Given the description of an element on the screen output the (x, y) to click on. 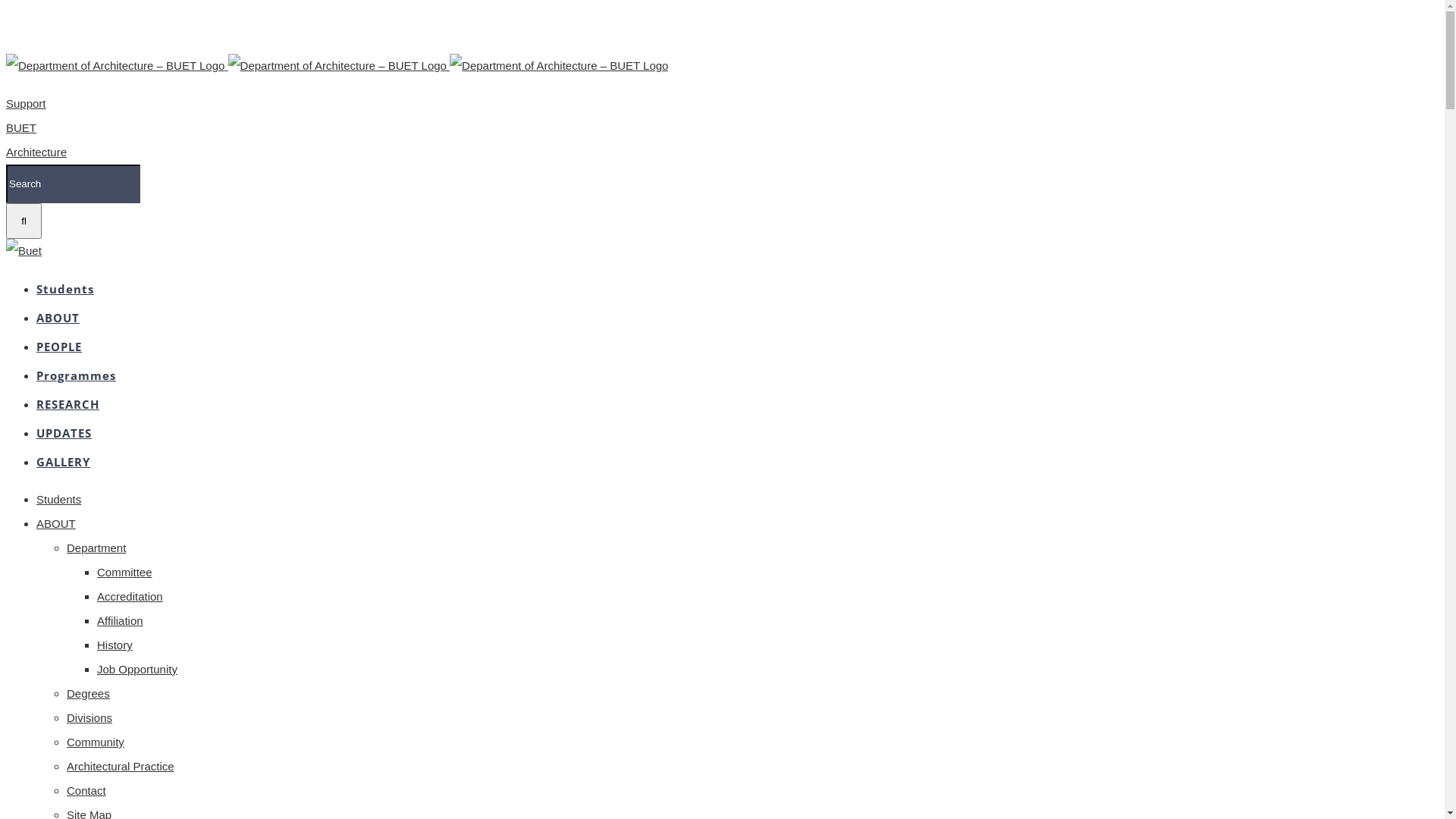
Support
BUET
Architecture Element type: text (36, 127)
Buet Element type: hover (23, 250)
Job Opportunity Element type: text (137, 668)
ABOUT Element type: text (55, 523)
GALLERY Element type: text (63, 460)
Students Element type: text (65, 287)
Affiliation Element type: text (120, 620)
ABOUT Element type: text (57, 316)
Accreditation Element type: text (130, 595)
PEOPLE Element type: text (58, 345)
Programmes Element type: text (76, 374)
Students Element type: text (58, 498)
Department Element type: text (95, 547)
Community Element type: text (95, 741)
UPDATES Element type: text (63, 431)
History Element type: text (114, 644)
Architectural Practice Element type: text (120, 765)
Divisions Element type: text (89, 717)
Contact Element type: text (86, 790)
RESEARCH Element type: text (67, 403)
Committee Element type: text (124, 571)
Degrees Element type: text (87, 693)
